Given the description of an element on the screen output the (x, y) to click on. 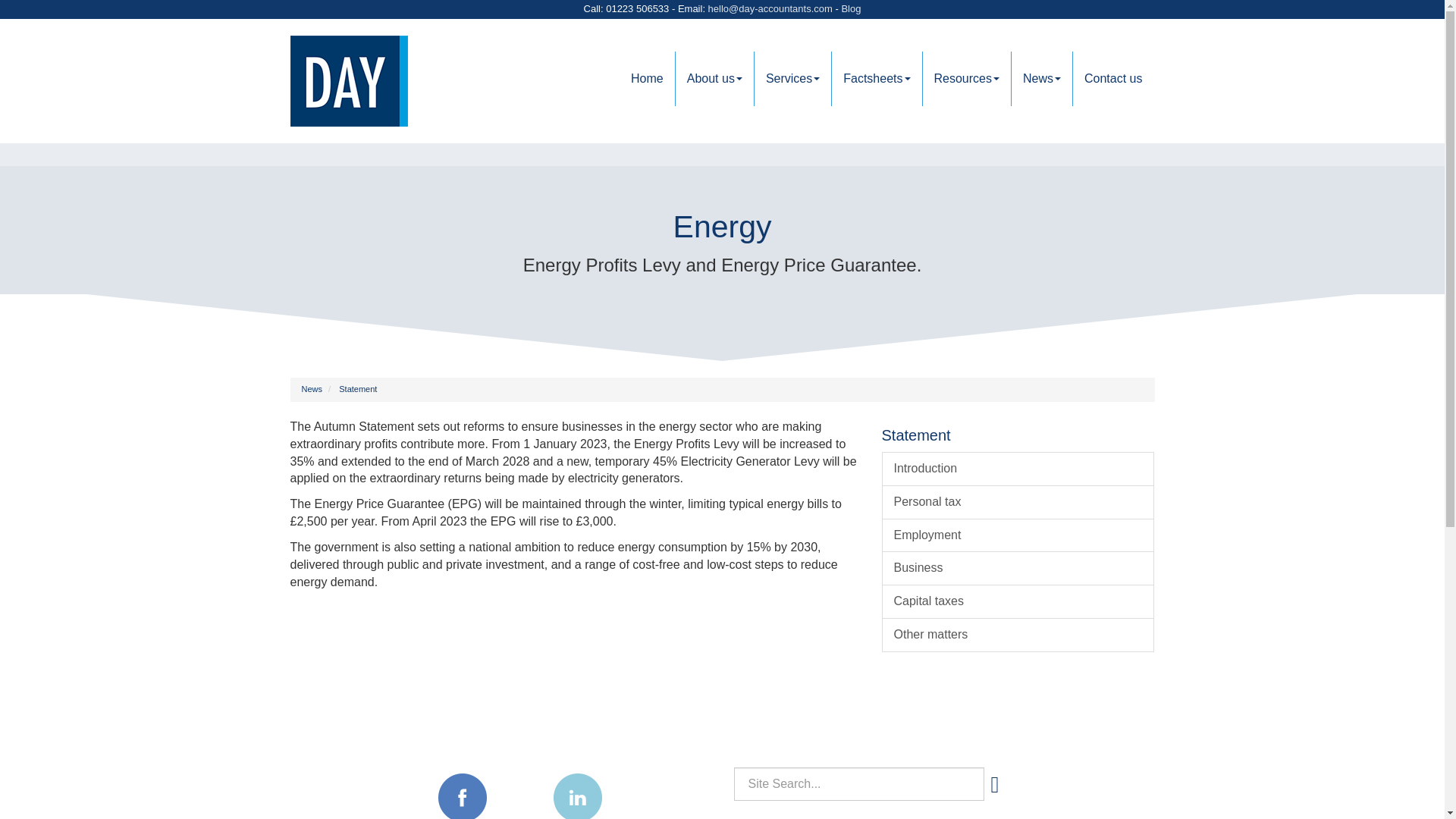
Home (647, 78)
Blog (850, 8)
Services (792, 78)
Services (792, 78)
Blog (850, 8)
Home (647, 78)
About us (714, 78)
Resources (966, 78)
Day Accountants in Cambridge (389, 81)
Factsheets (876, 78)
About us (714, 78)
